Given the description of an element on the screen output the (x, y) to click on. 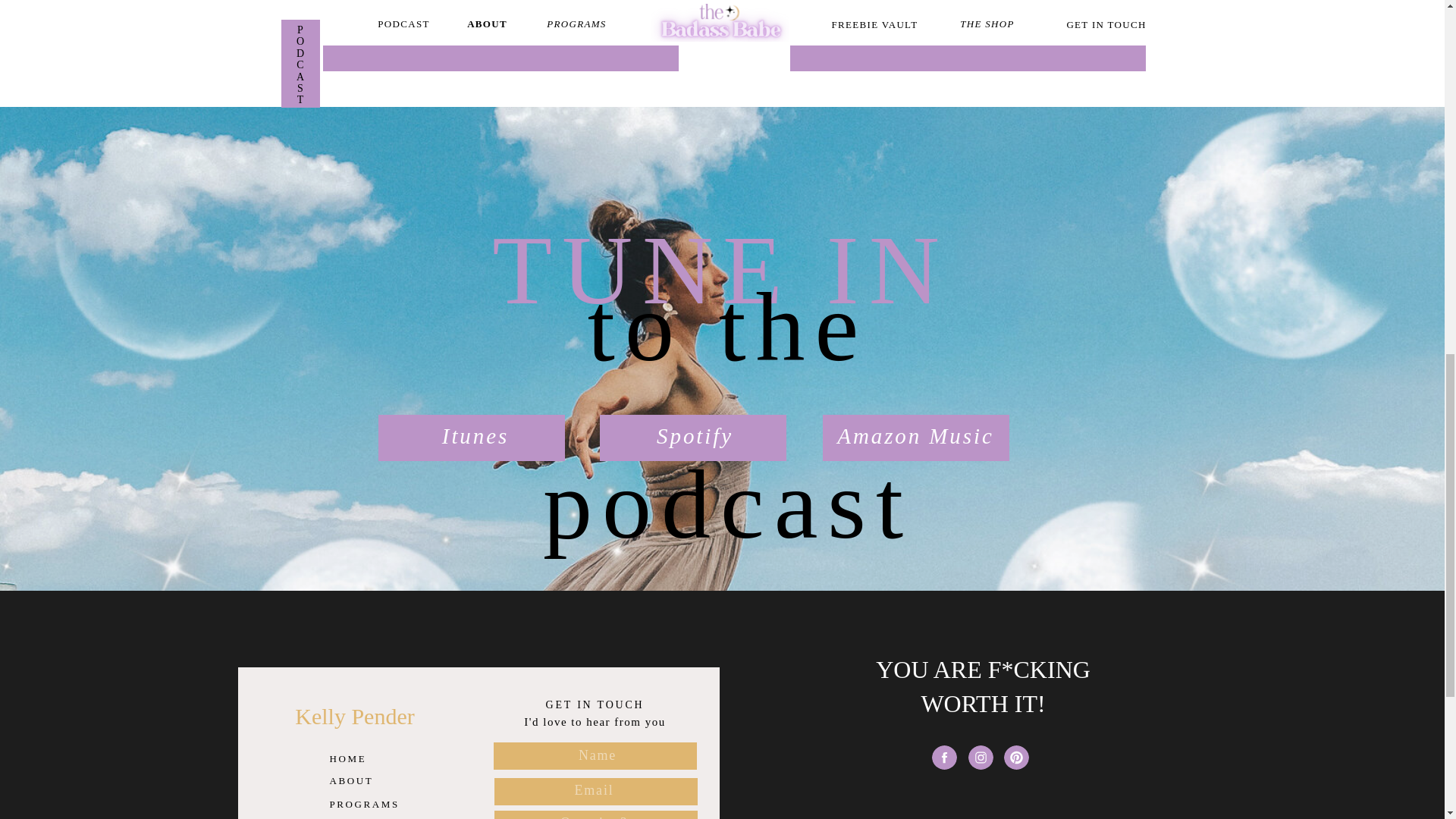
KEEP READING (956, 43)
Amazon Music (914, 441)
KEEP READING (490, 43)
What actually is a Spiritual Awakening? (490, 43)
Spotify (694, 441)
ABOUT (366, 778)
Hello world! (956, 43)
PROGRAMS (366, 802)
Itunes (475, 441)
HOME (366, 756)
